Given the description of an element on the screen output the (x, y) to click on. 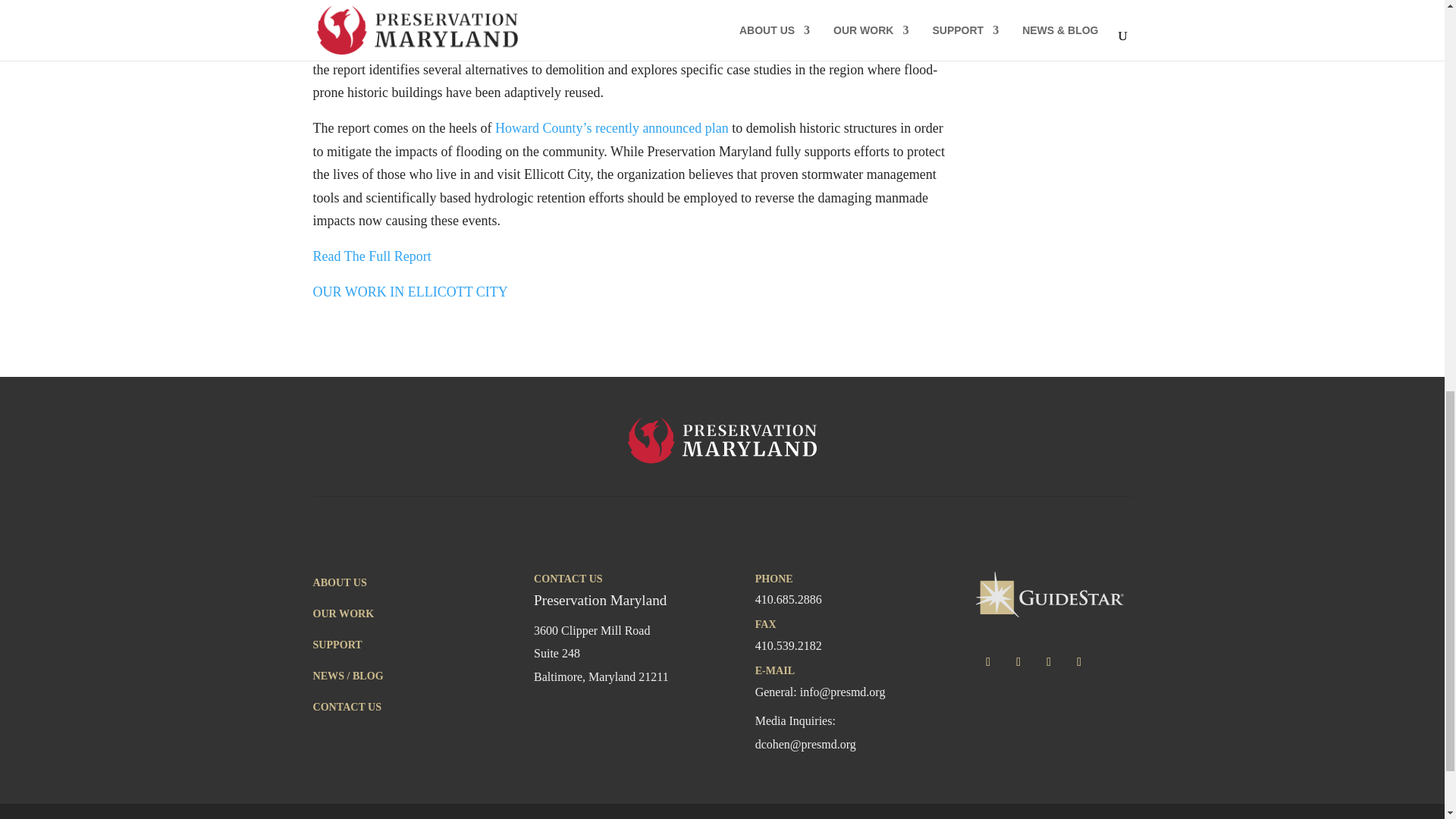
Follow on Facebook (987, 662)
Follow on Twitter (1018, 662)
Follow on Instagram (1048, 662)
Follow on LinkedIn (1078, 662)
